Given the description of an element on the screen output the (x, y) to click on. 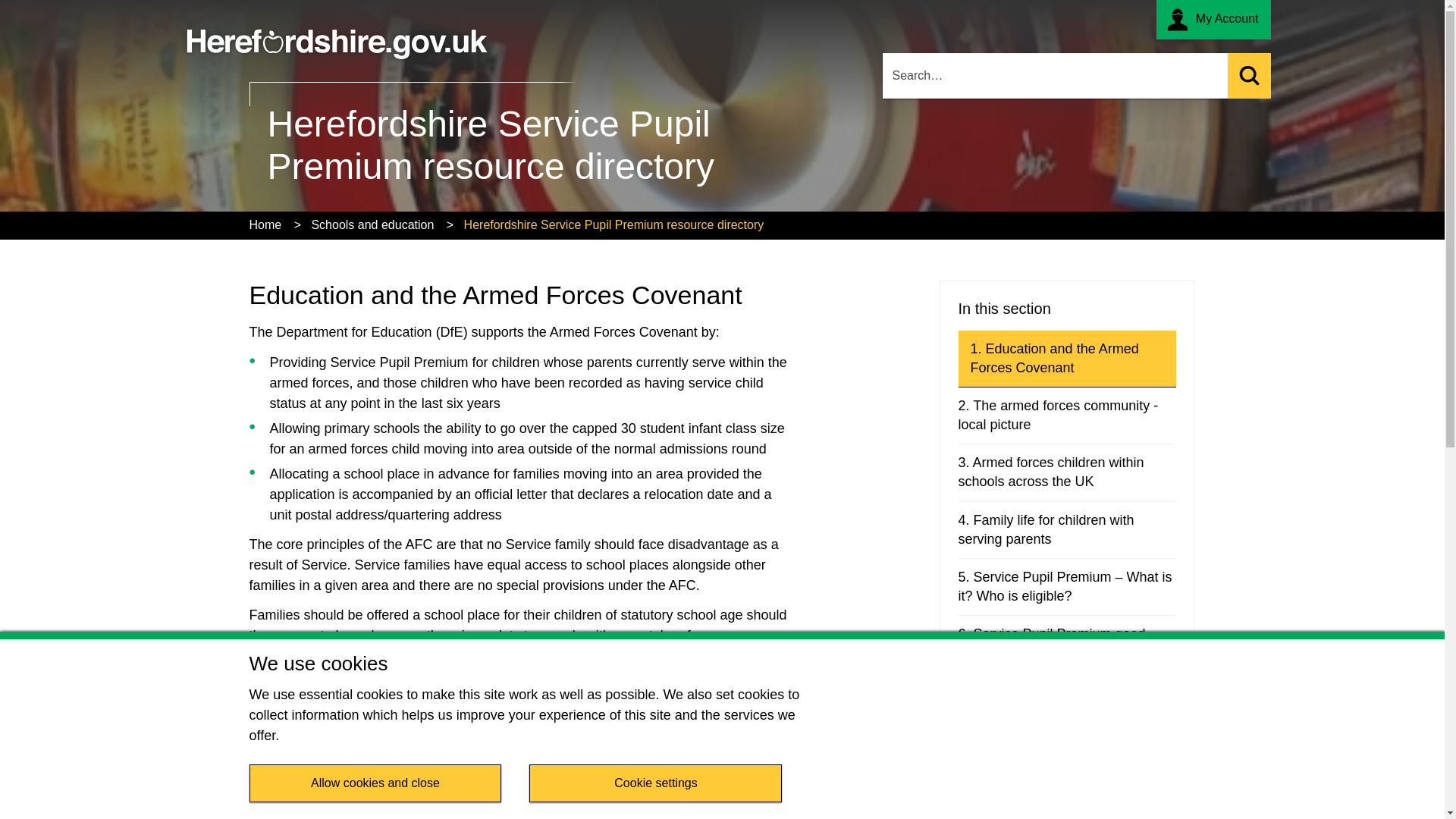
Allow cookies and close (374, 783)
Home (264, 225)
Schools and education (372, 225)
Search (1248, 75)
Service Pupil Premium good practice examples (1067, 643)
Cookie settings (655, 783)
Family life for children with serving parents (1067, 529)
Herefordshire Council (337, 35)
Herefordshire Council Home Page (337, 35)
Service Pupil Premium information for schools (1067, 758)
Get information from gov.uk about Herefordshire schools (440, 795)
My Account (1213, 19)
The armed forces community - local picture (1067, 415)
Armed forces children within schools across the UK (1067, 472)
